Given the description of an element on the screen output the (x, y) to click on. 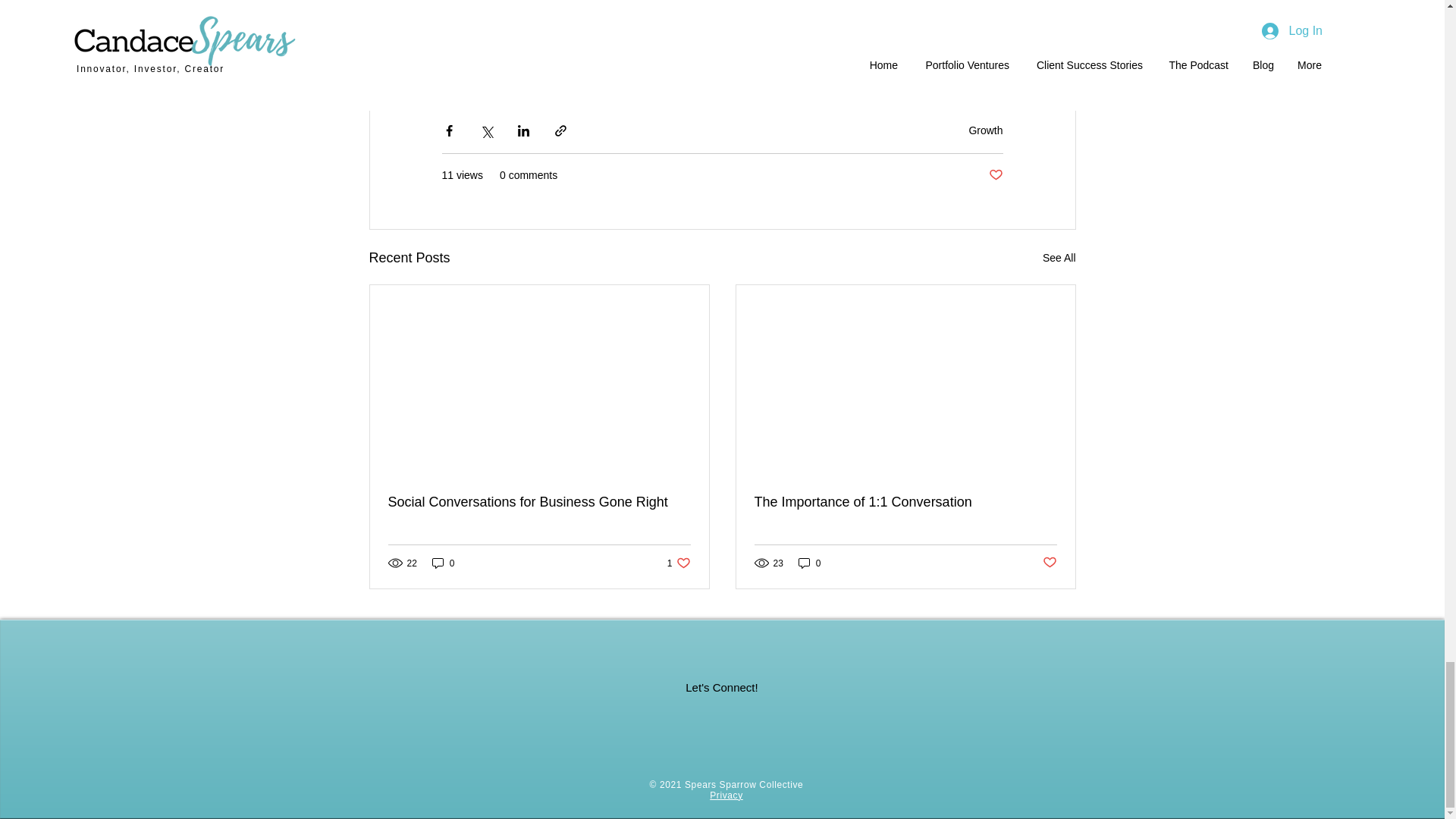
0 (443, 563)
Social Conversations for Business Gone Right (539, 502)
Post not marked as liked (678, 563)
Growth (995, 175)
See All (985, 130)
